Given the description of an element on the screen output the (x, y) to click on. 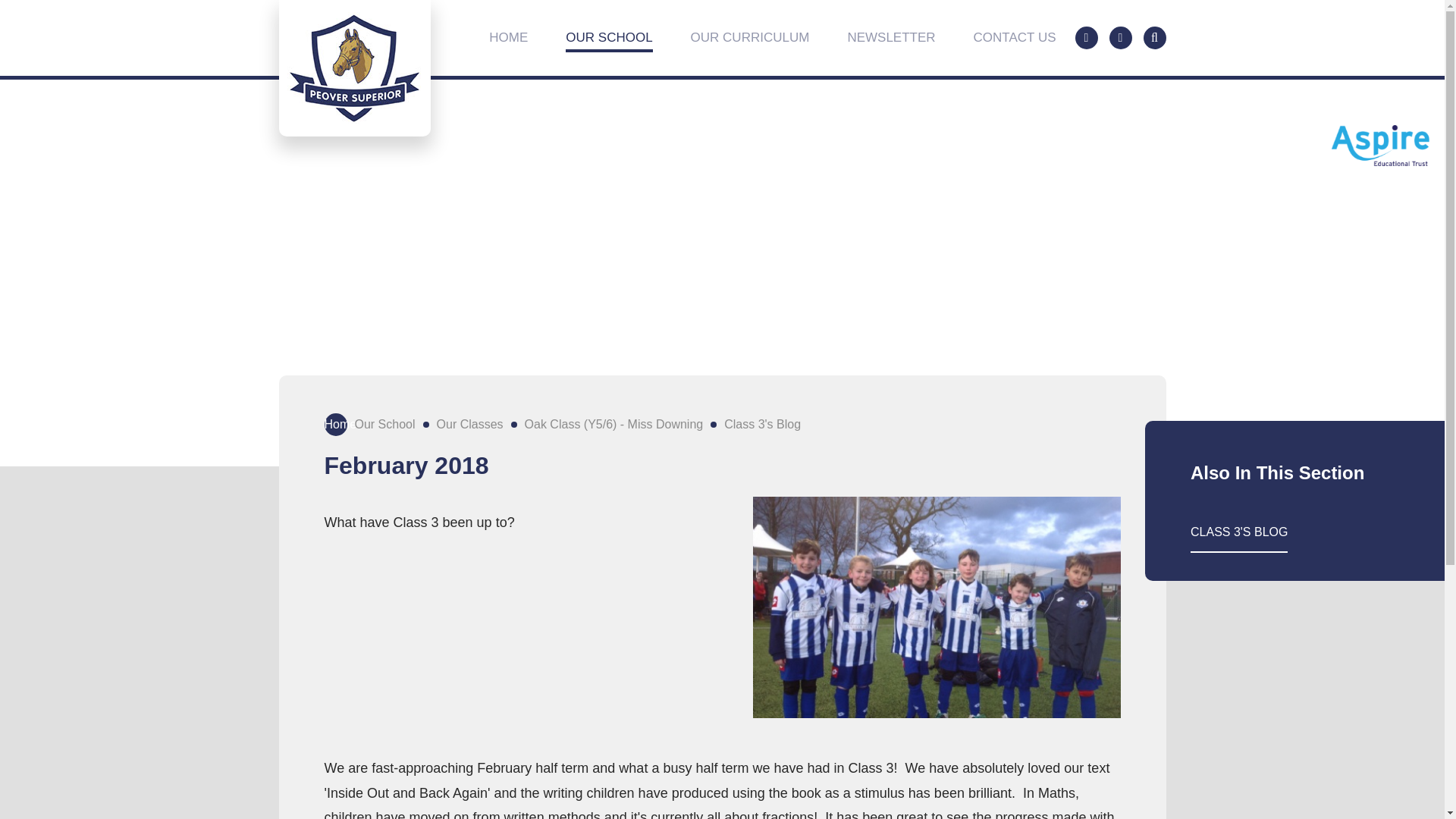
Twitter (1086, 37)
Search (1154, 37)
CONTACT US (1015, 38)
OUR CURRICULUM (749, 38)
HOME (508, 38)
Translate (1119, 37)
OUR SCHOOL (609, 38)
NEWSLETTER (890, 38)
